Given the description of an element on the screen output the (x, y) to click on. 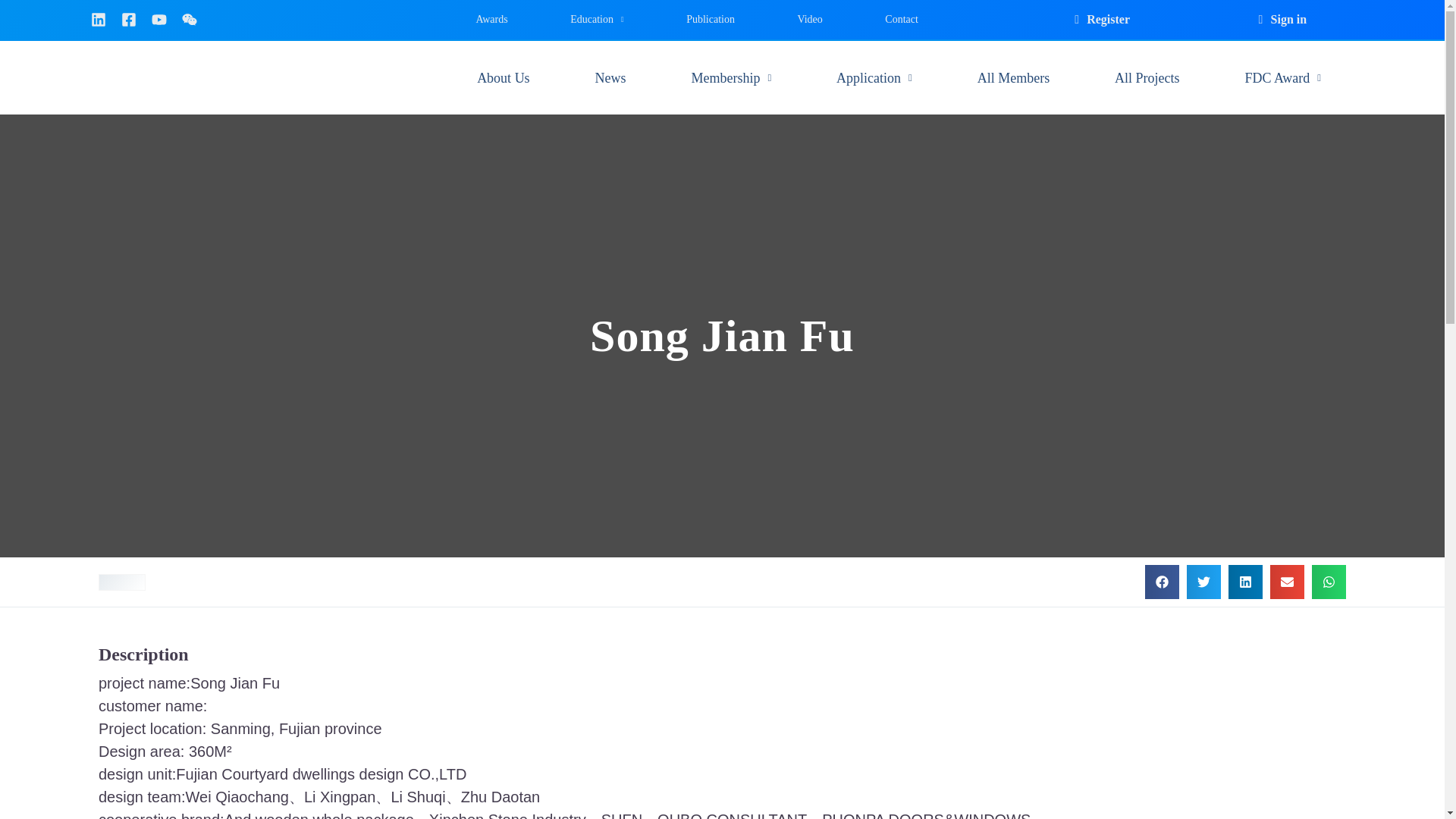
Education (596, 19)
Register (1100, 20)
Video (809, 19)
Awards (491, 19)
Contact (901, 19)
Publication (710, 19)
Sign in (1280, 20)
